Given the description of an element on the screen output the (x, y) to click on. 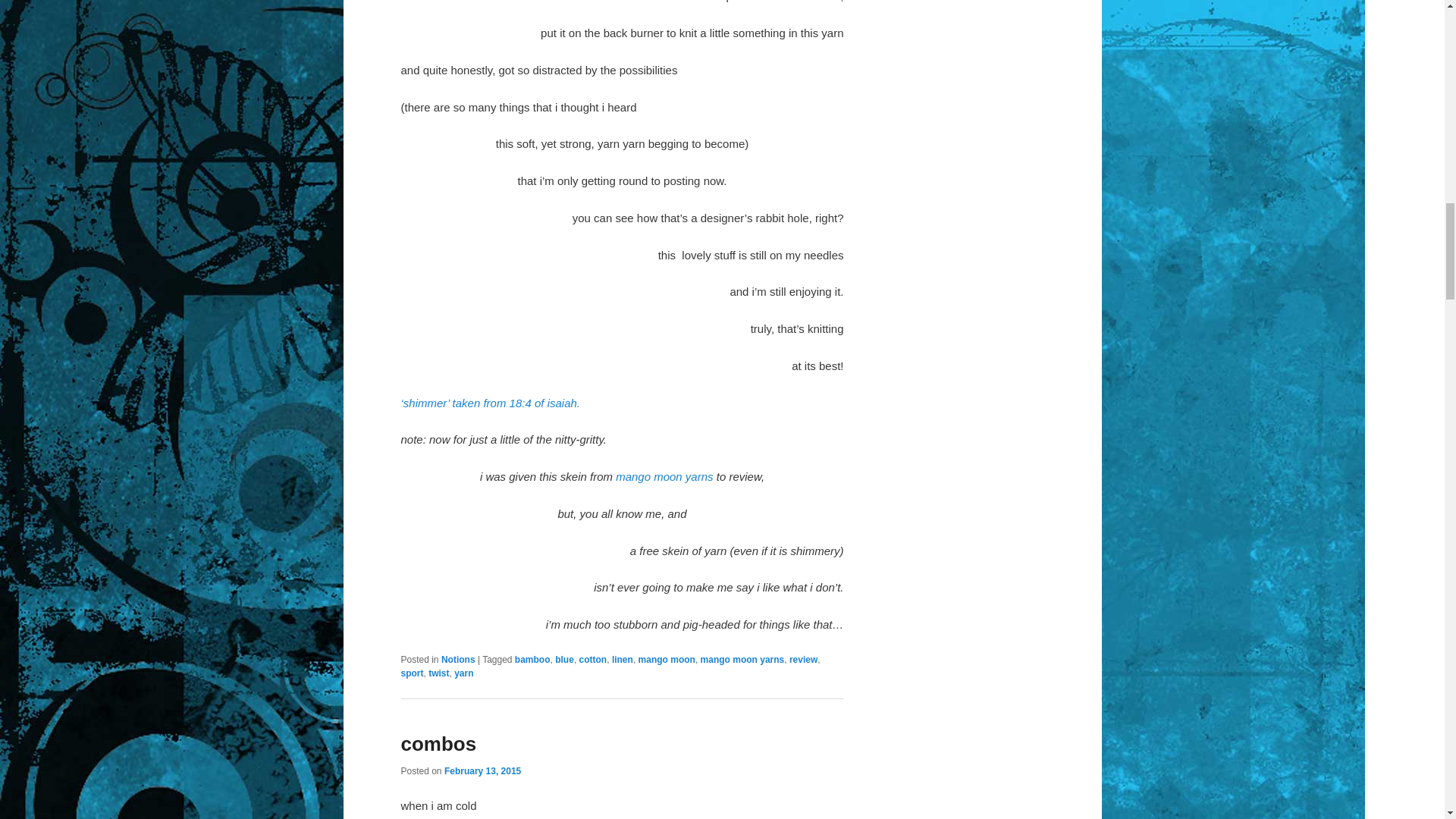
mango moon yarns (742, 659)
bamboo (532, 659)
sport (411, 673)
blue (563, 659)
mango moon (667, 659)
February 13, 2015 (482, 770)
combos (438, 743)
twist (438, 673)
mango moon yarns (664, 476)
cotton (593, 659)
